Given the description of an element on the screen output the (x, y) to click on. 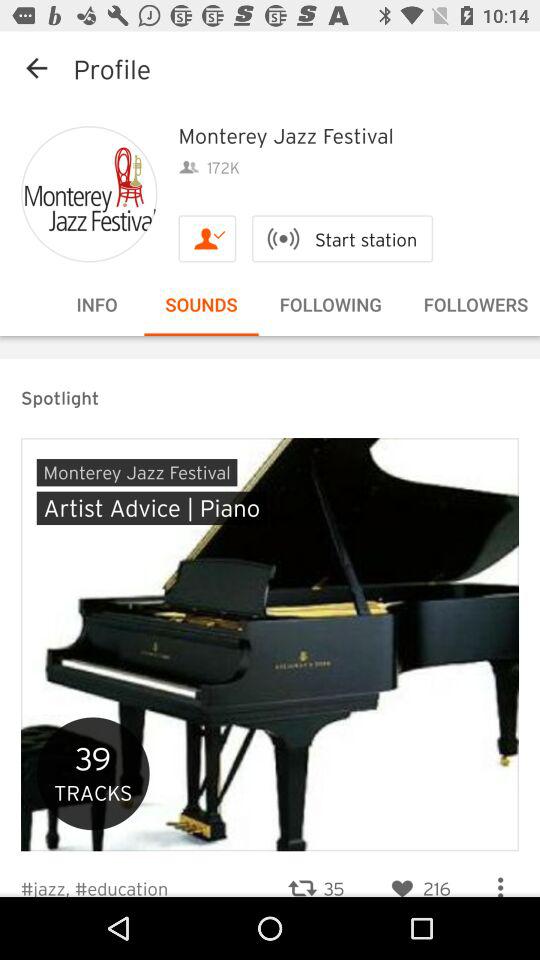
open the item to the left of the 216 item (315, 876)
